Given the description of an element on the screen output the (x, y) to click on. 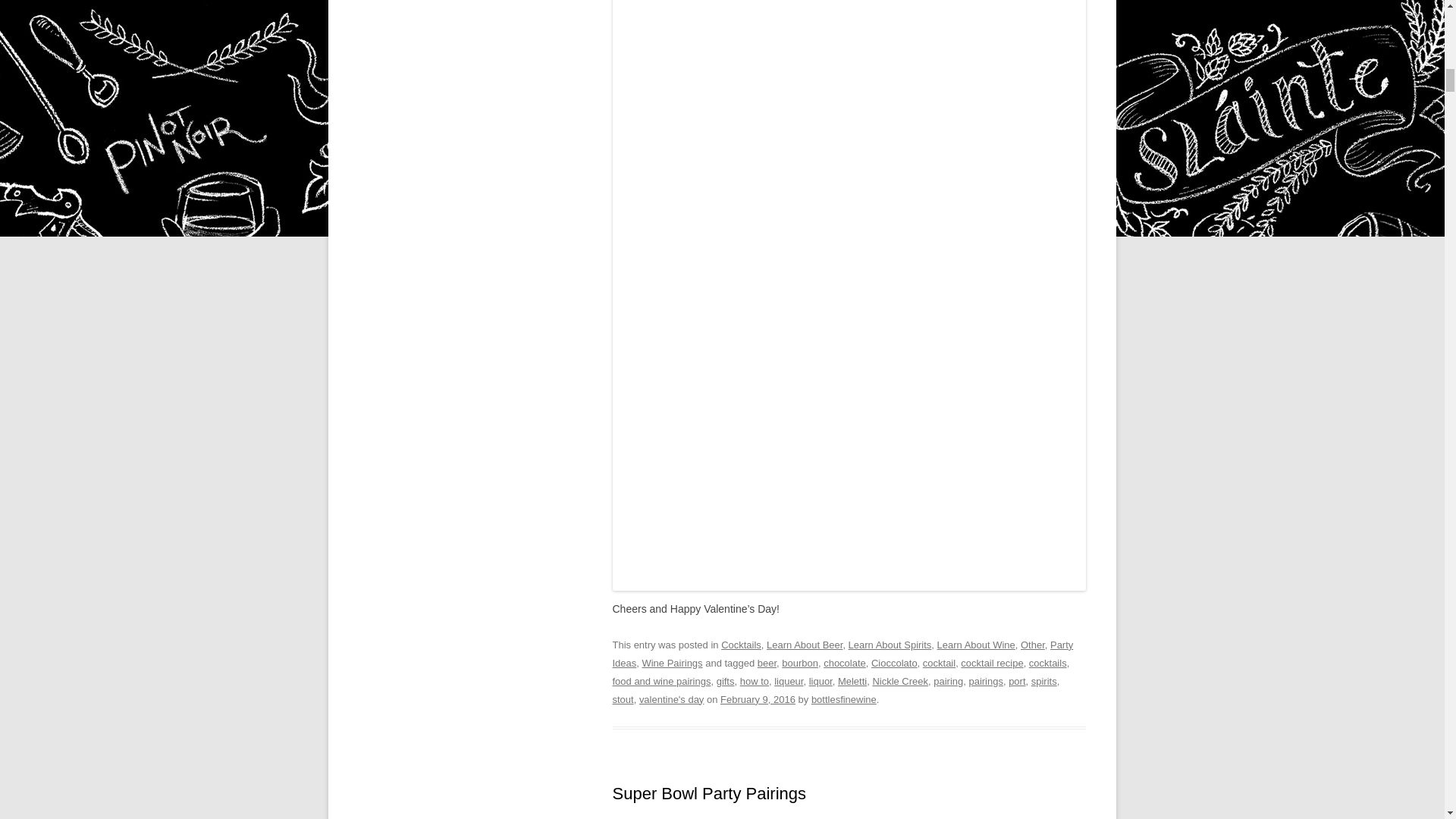
Cocktails (740, 644)
liqueur (788, 681)
port (1017, 681)
9:08 PM (757, 698)
Other (1032, 644)
Wine Pairings (671, 663)
bourbon (799, 663)
food and wine pairings (661, 681)
Cioccolato (893, 663)
pairings (985, 681)
chocolate (845, 663)
View all posts by bottlesfinewine (843, 698)
Learn About Wine (975, 644)
liquor (820, 681)
spirits (1043, 681)
